Given the description of an element on the screen output the (x, y) to click on. 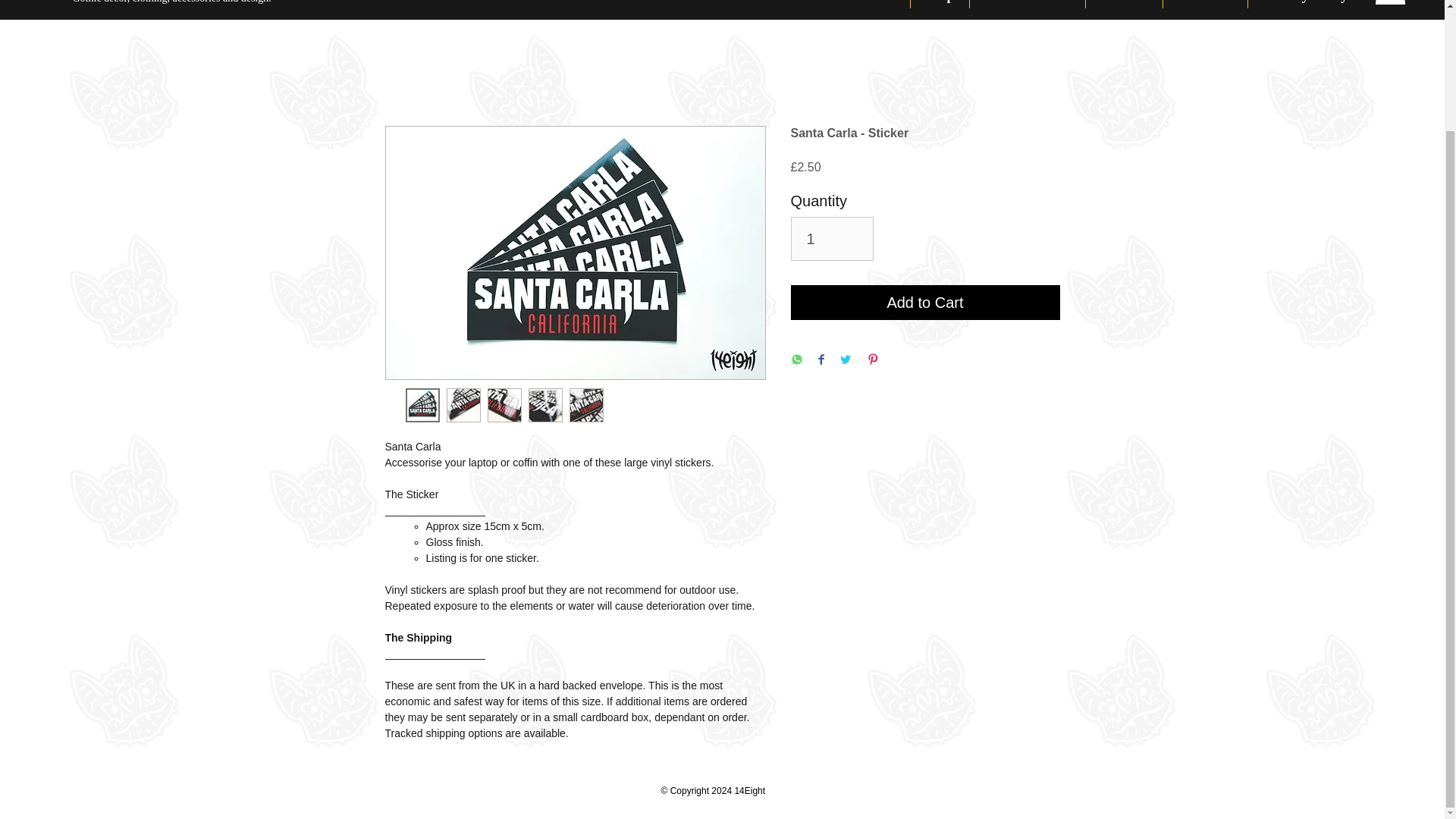
Add to Cart (924, 302)
Privacy Policy (1305, 4)
Contact (1123, 4)
Shop (939, 4)
Home (877, 4)
1 (831, 239)
Portfolio (1205, 4)
Commissions (1026, 4)
